Given the description of an element on the screen output the (x, y) to click on. 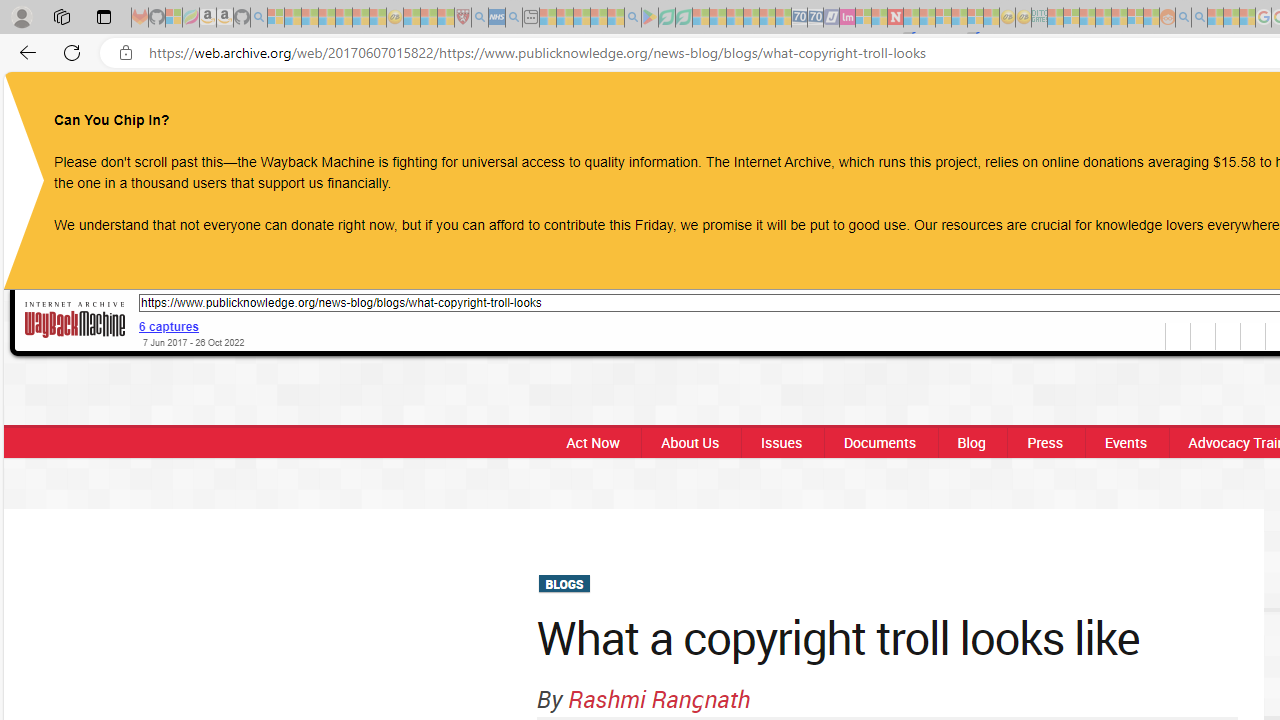
Public Knowledge (649, 106)
